Given the description of an element on the screen output the (x, y) to click on. 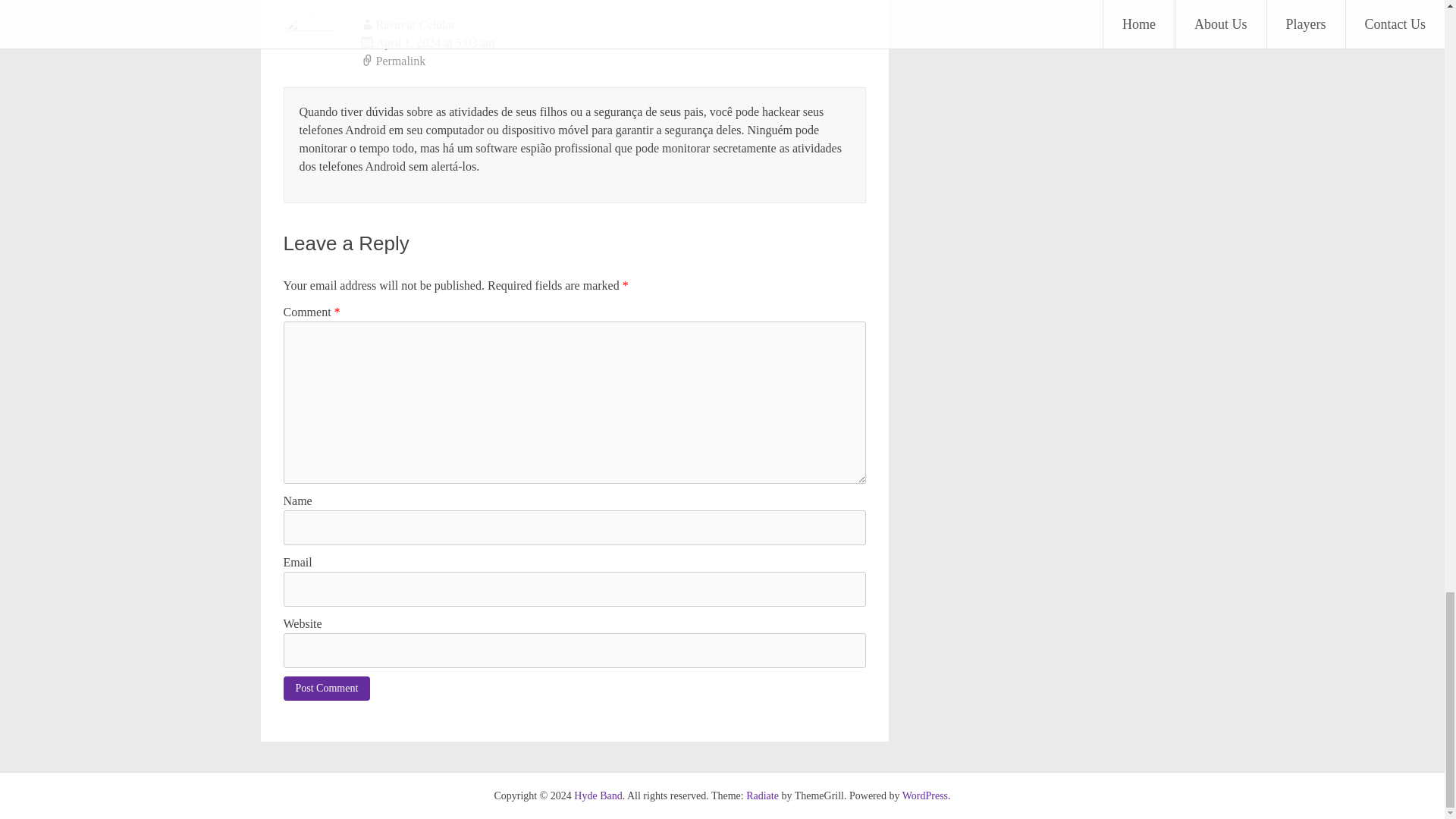
Post Comment (327, 688)
WordPress (924, 795)
Radiate (761, 795)
Hyde Band (597, 795)
